Given the description of an element on the screen output the (x, y) to click on. 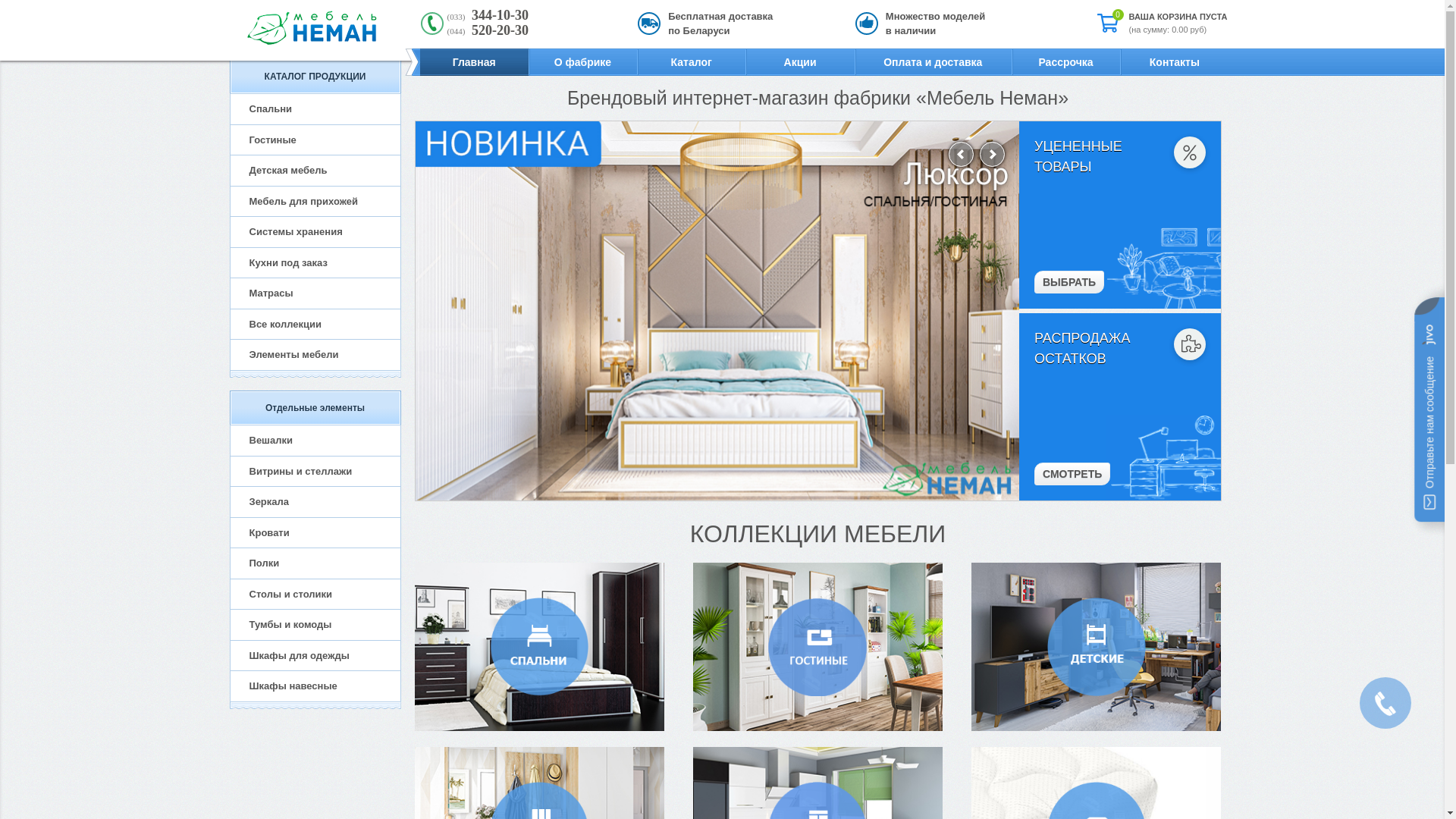
detskaya-neman Element type: hover (1096, 646)
spalnya-neman Element type: hover (539, 646)
gostinye-neman Element type: hover (818, 646)
